Given the description of an element on the screen output the (x, y) to click on. 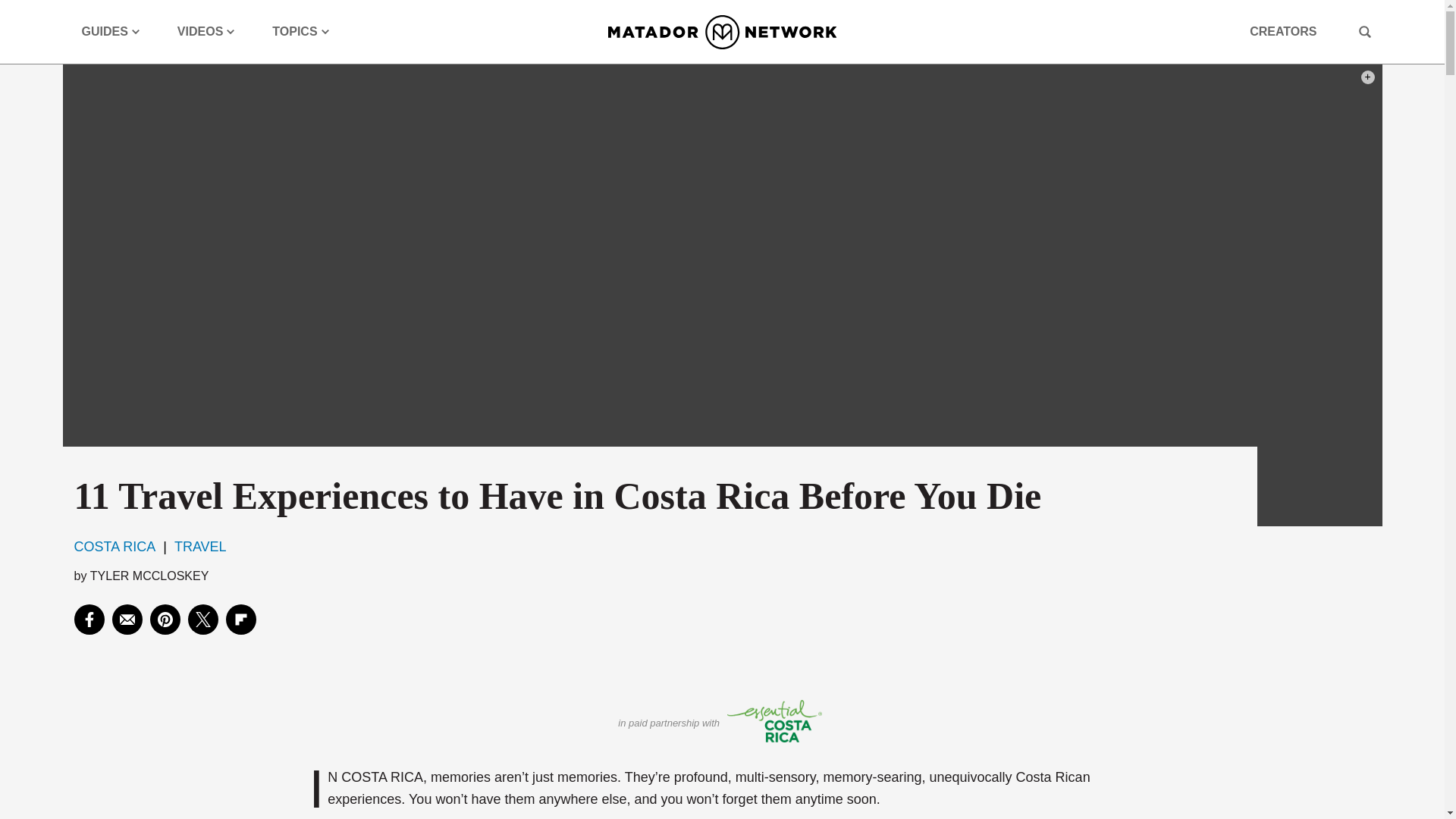
VIDEOS (205, 31)
CREATORS (1282, 31)
GUIDES (110, 31)
TOPICS (300, 31)
